Given the description of an element on the screen output the (x, y) to click on. 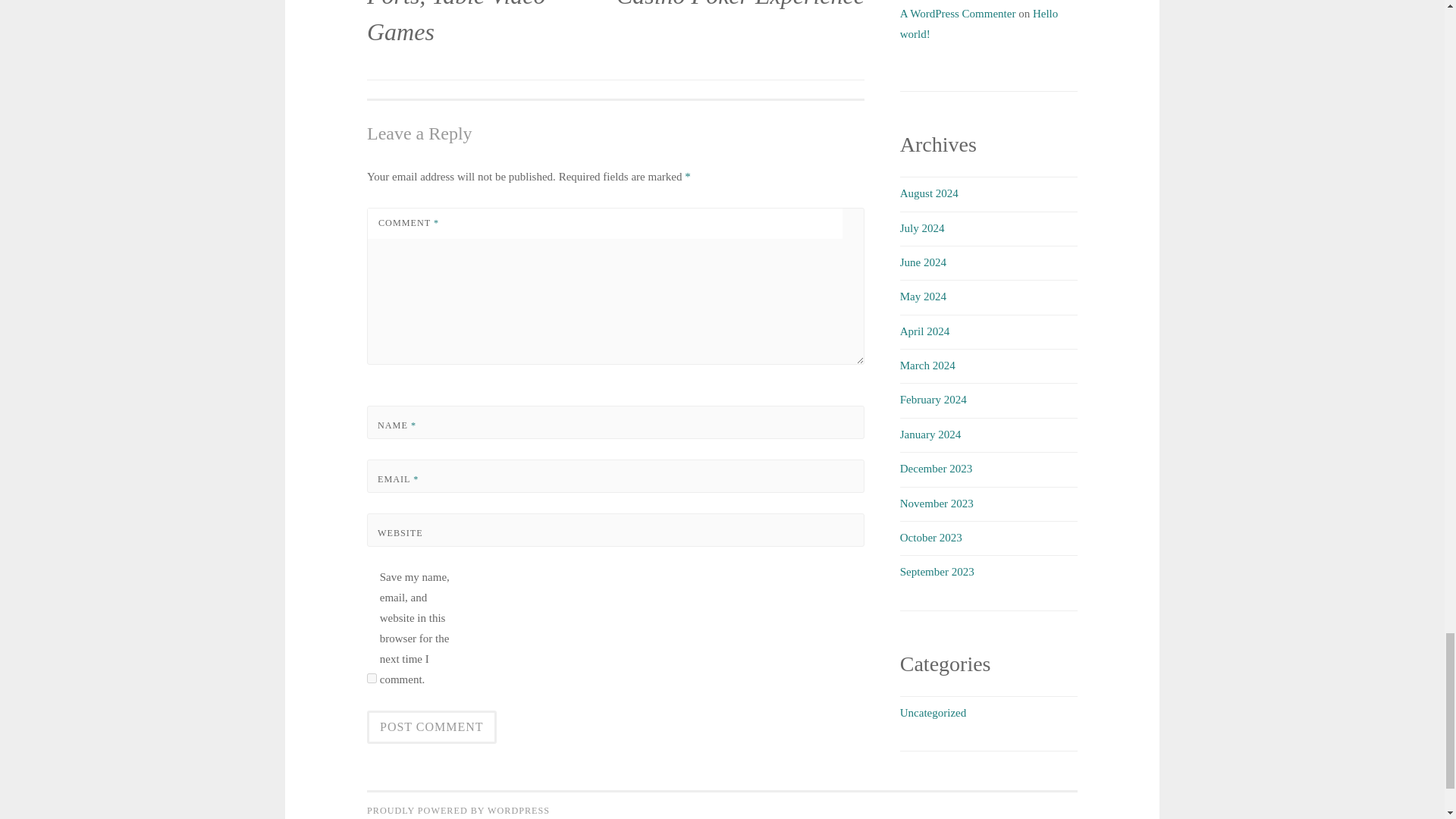
yes (371, 678)
Online Gambling Establishment Play Ports, Table Video Games (490, 35)
Post Comment (431, 726)
Post Comment (431, 726)
